Given the description of an element on the screen output the (x, y) to click on. 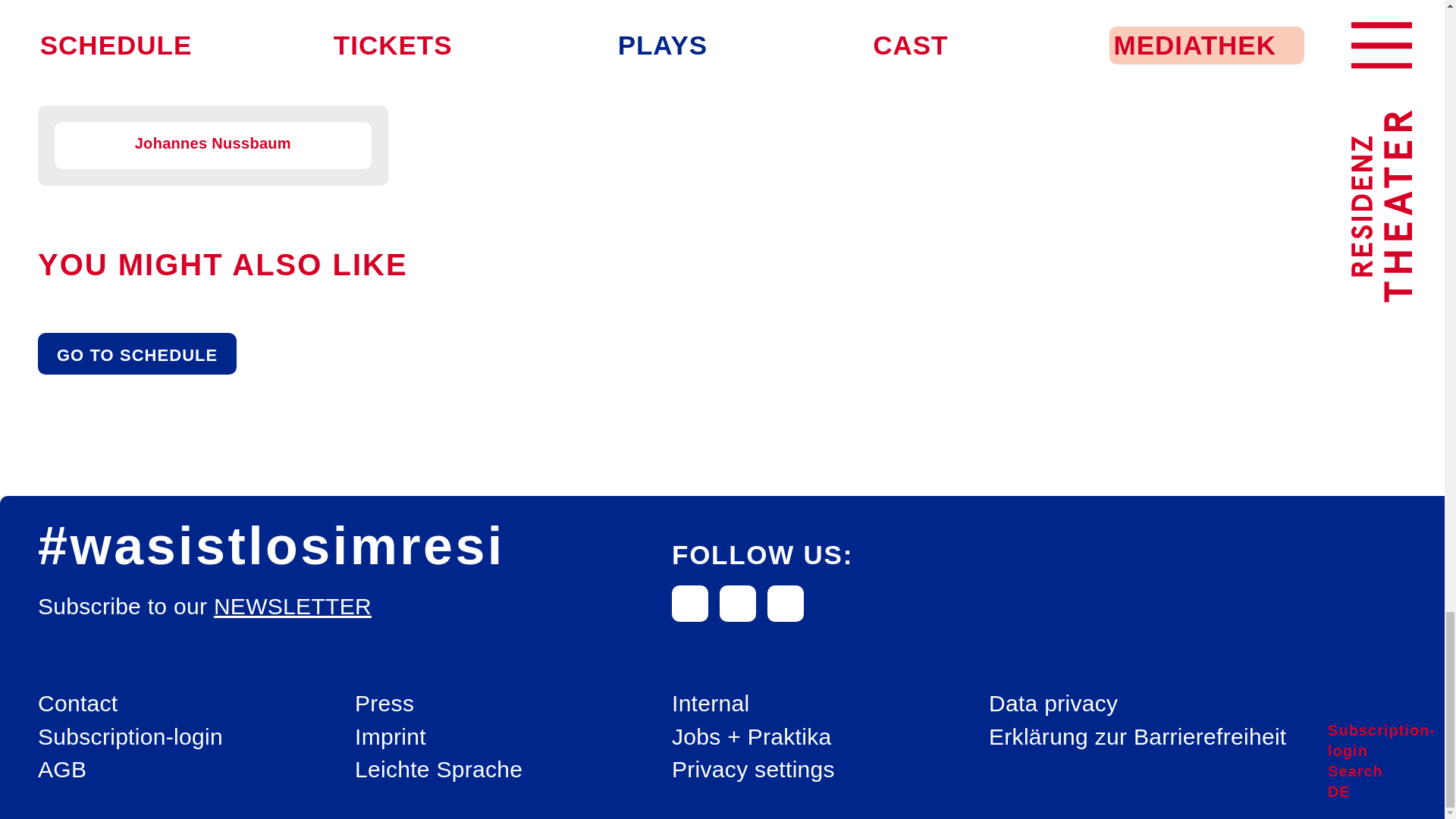
Internal (710, 703)
Leichte Sprache (438, 769)
Subscription-login (129, 736)
Contact (77, 703)
AGB (61, 769)
Press (384, 703)
Data privacy (1053, 703)
Imprint (390, 736)
